Given the description of an element on the screen output the (x, y) to click on. 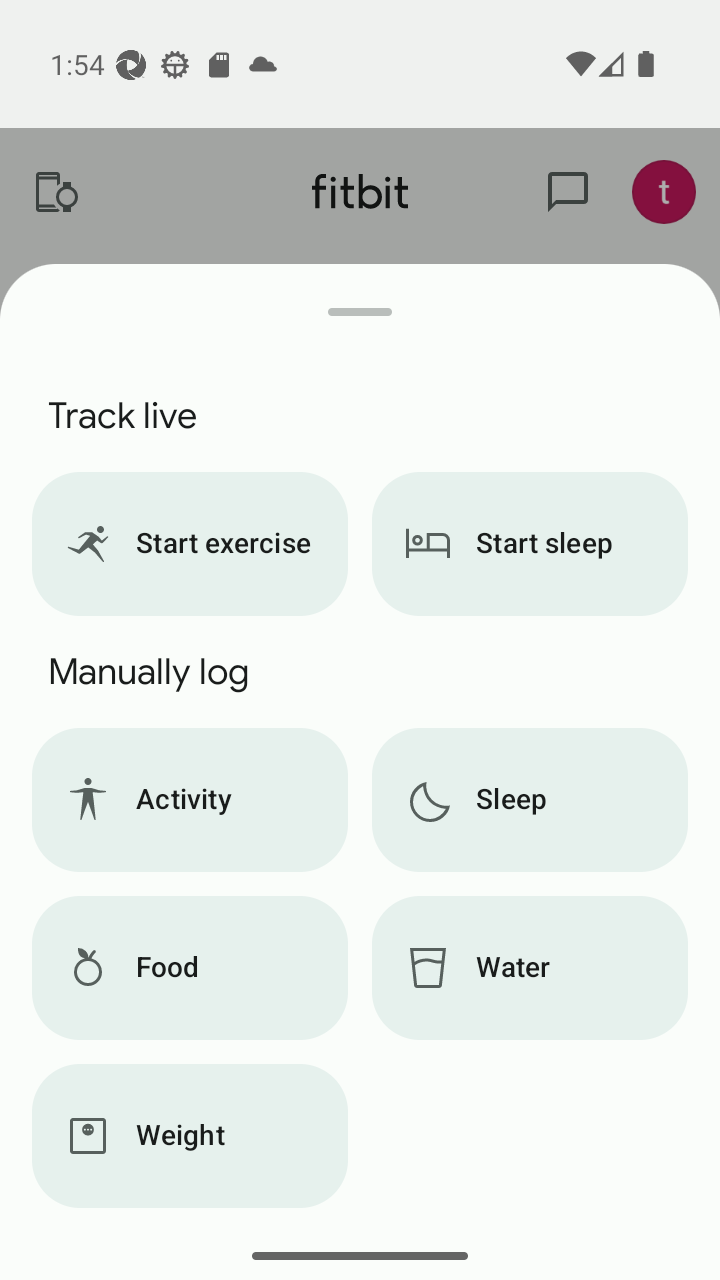
Start exercise (189, 543)
Start sleep (530, 543)
Activity (189, 799)
Sleep (530, 799)
Food (189, 967)
Water (530, 967)
Weight (189, 1135)
